Given the description of an element on the screen output the (x, y) to click on. 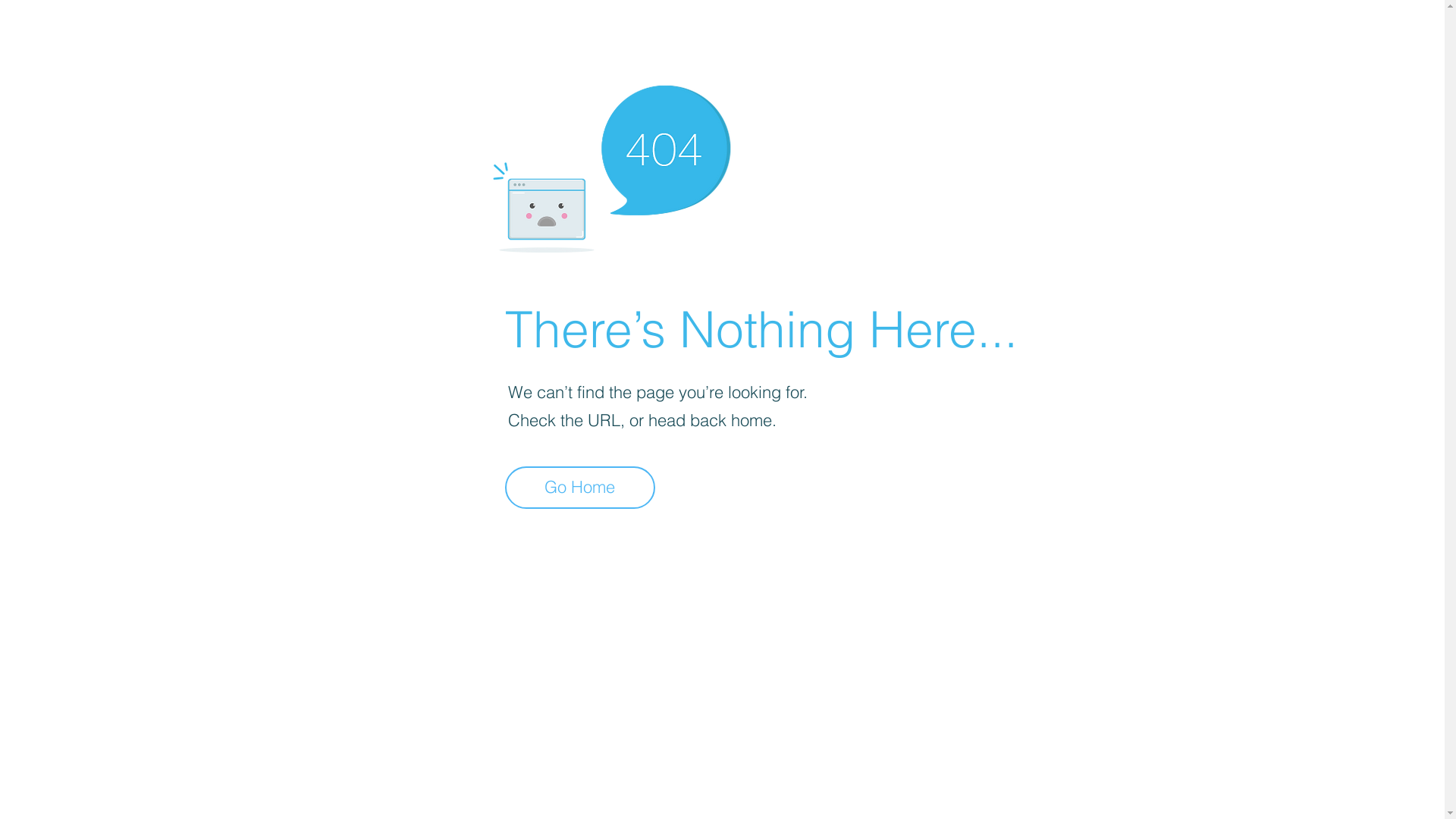
404-icon_2.png Element type: hover (610, 164)
Go Home Element type: text (580, 487)
